Given the description of an element on the screen output the (x, y) to click on. 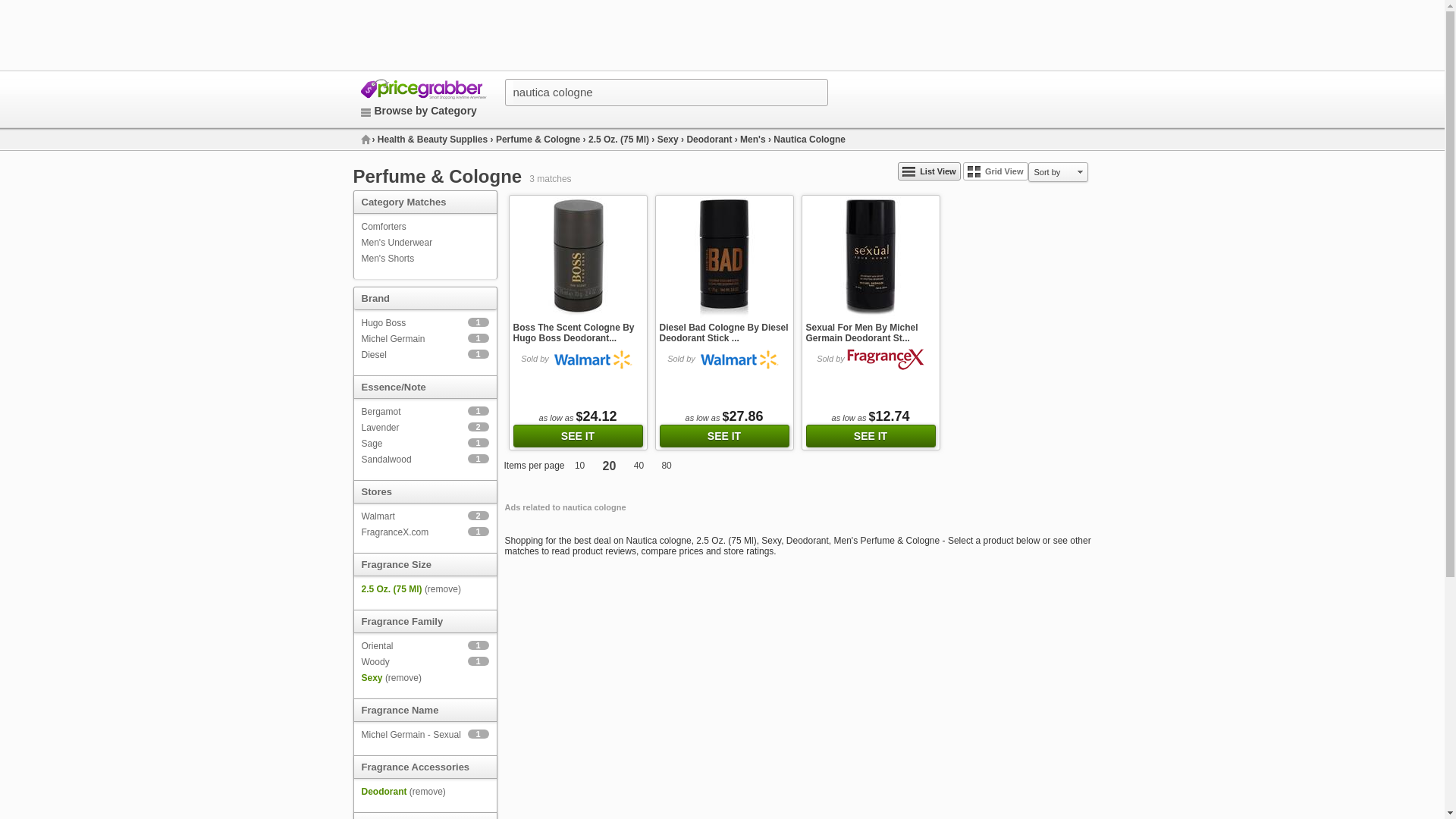
nautica cologne (668, 92)
nautica cologne (668, 92)
Men's Shorts (387, 258)
Sexy (669, 139)
PriceGrabber (423, 97)
Men's (753, 139)
Men's Underwear (383, 322)
SEARCH (396, 242)
Deodorant (811, 92)
Browse by Category (709, 139)
Comforters (419, 110)
